Given the description of an element on the screen output the (x, y) to click on. 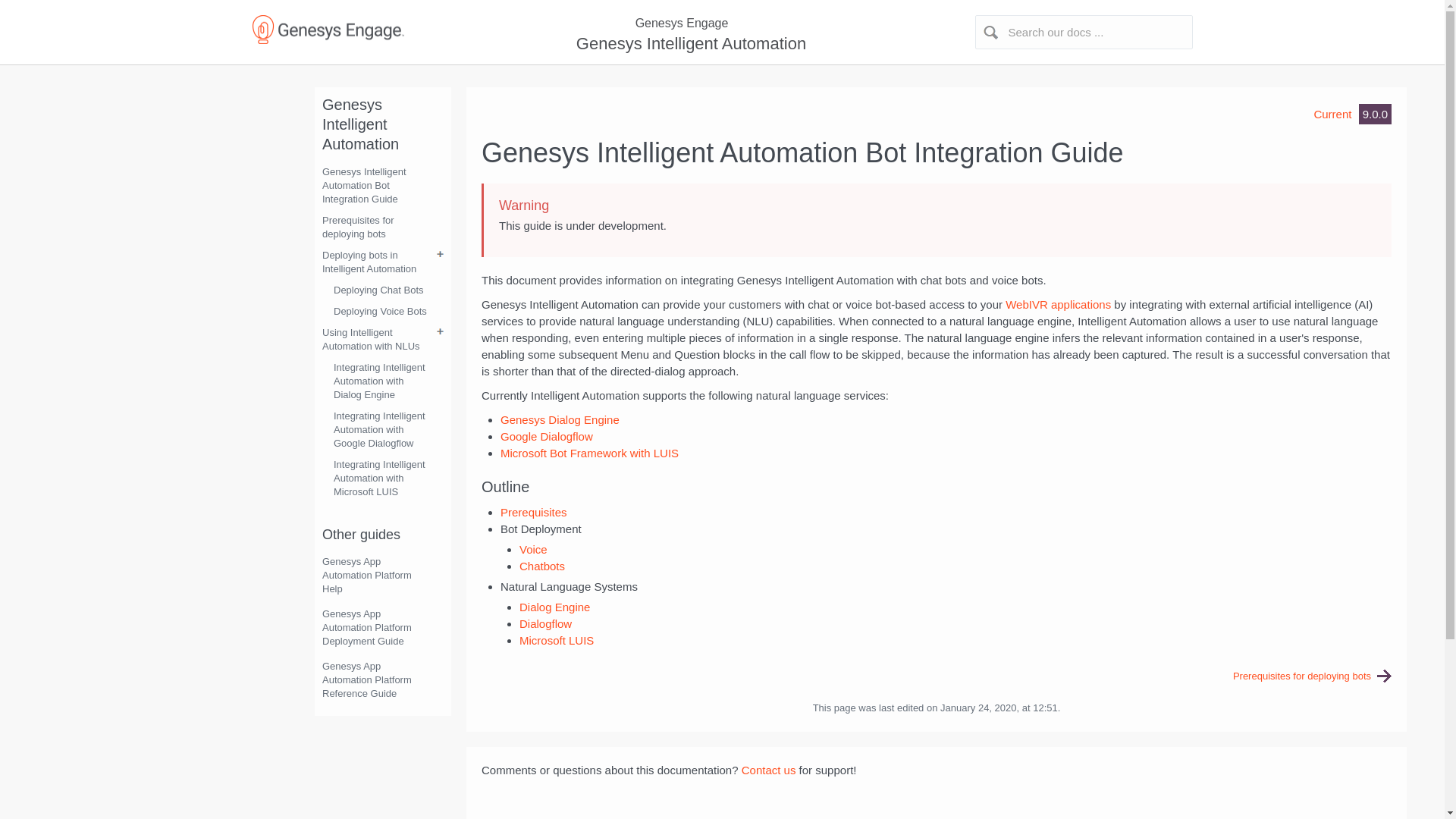
Search Genesys Documentation (1083, 32)
Genesys Intelligent Automation (689, 43)
Click to expand (721, 23)
